Given the description of an element on the screen output the (x, y) to click on. 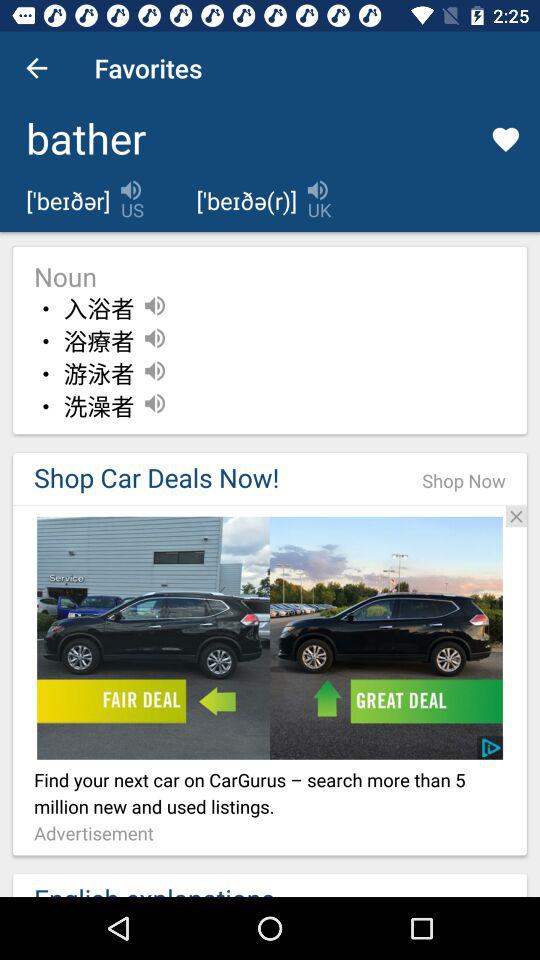
open car deal advertisement (269, 637)
